Given the description of an element on the screen output the (x, y) to click on. 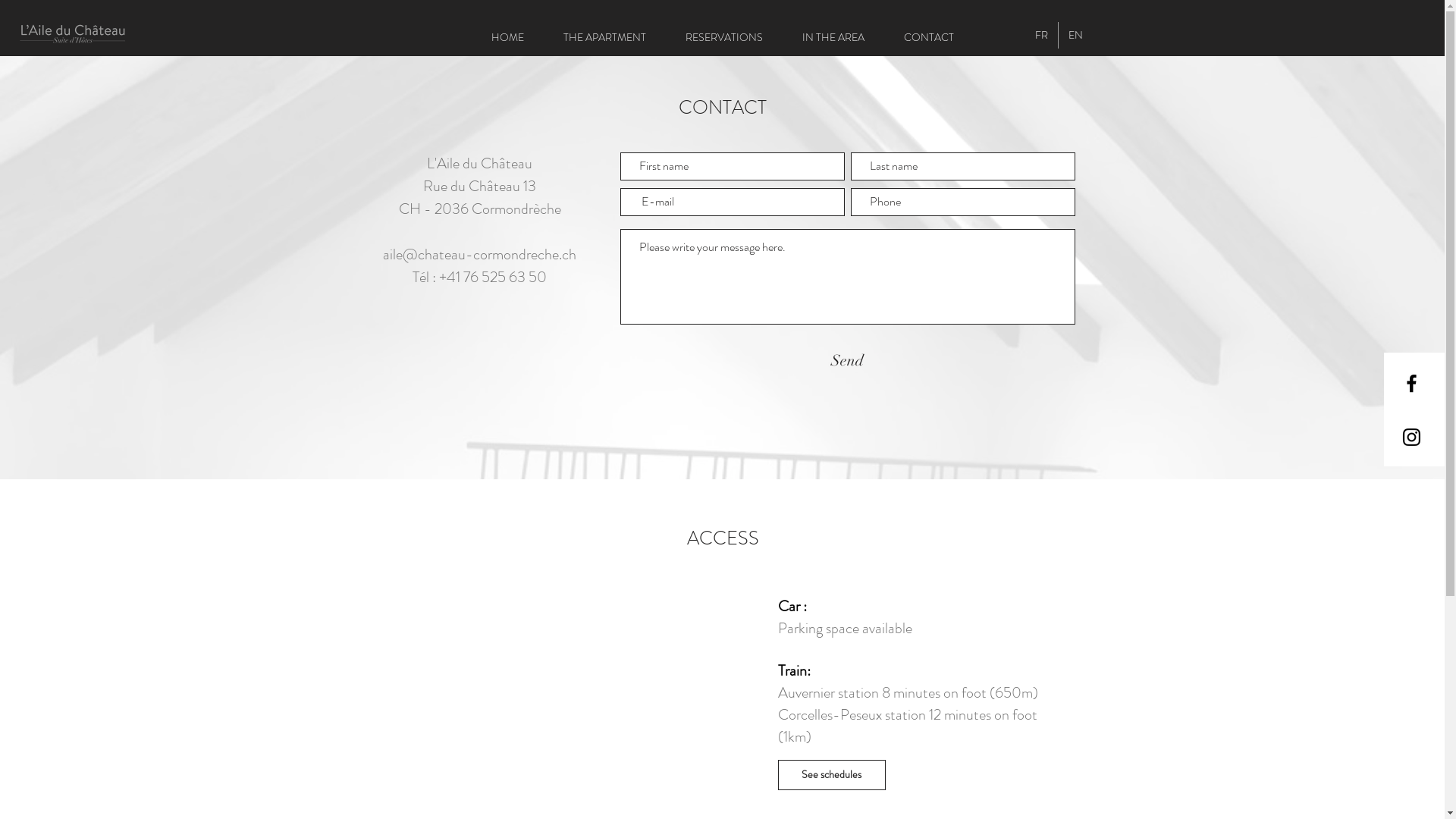
See schedules Element type: text (831, 774)
aile@chateau-cormondreche.ch Element type: text (479, 254)
+41 76 525 63 50 Element type: text (492, 277)
Send Element type: text (846, 360)
IN THE AREA Element type: text (833, 37)
EN Element type: text (1075, 34)
FR Element type: text (1041, 34)
HOME Element type: text (507, 37)
